Given the description of an element on the screen output the (x, y) to click on. 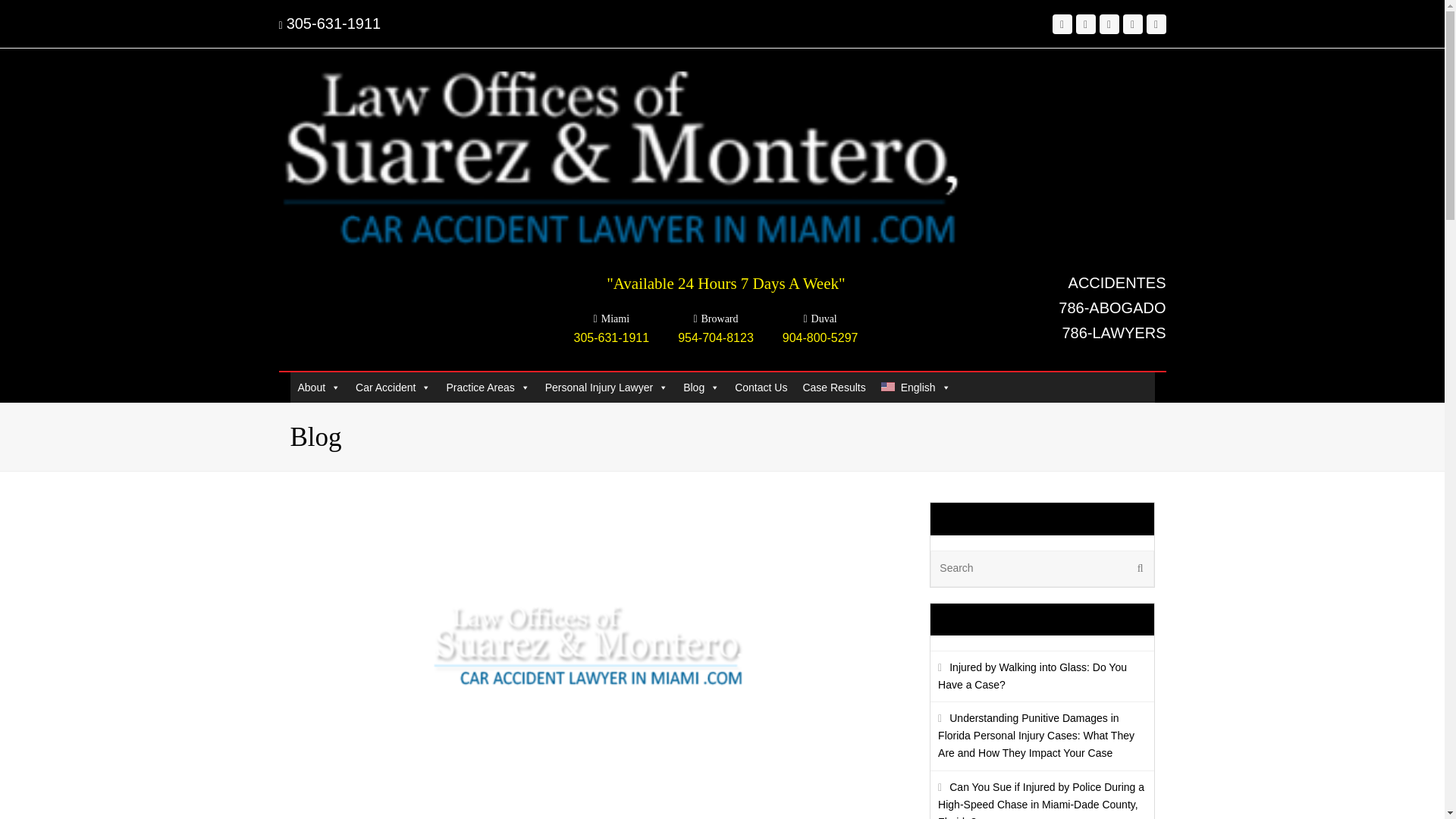
786-LAWYERS (1113, 332)
Car Accident (392, 387)
904-800-5297 (821, 337)
English (915, 387)
Instagram Profile (1109, 23)
786-ABOGADO (1112, 307)
Youtube Profile (1156, 23)
Practice Areas (487, 387)
305-631-1911 (333, 23)
About (318, 387)
